Given the description of an element on the screen output the (x, y) to click on. 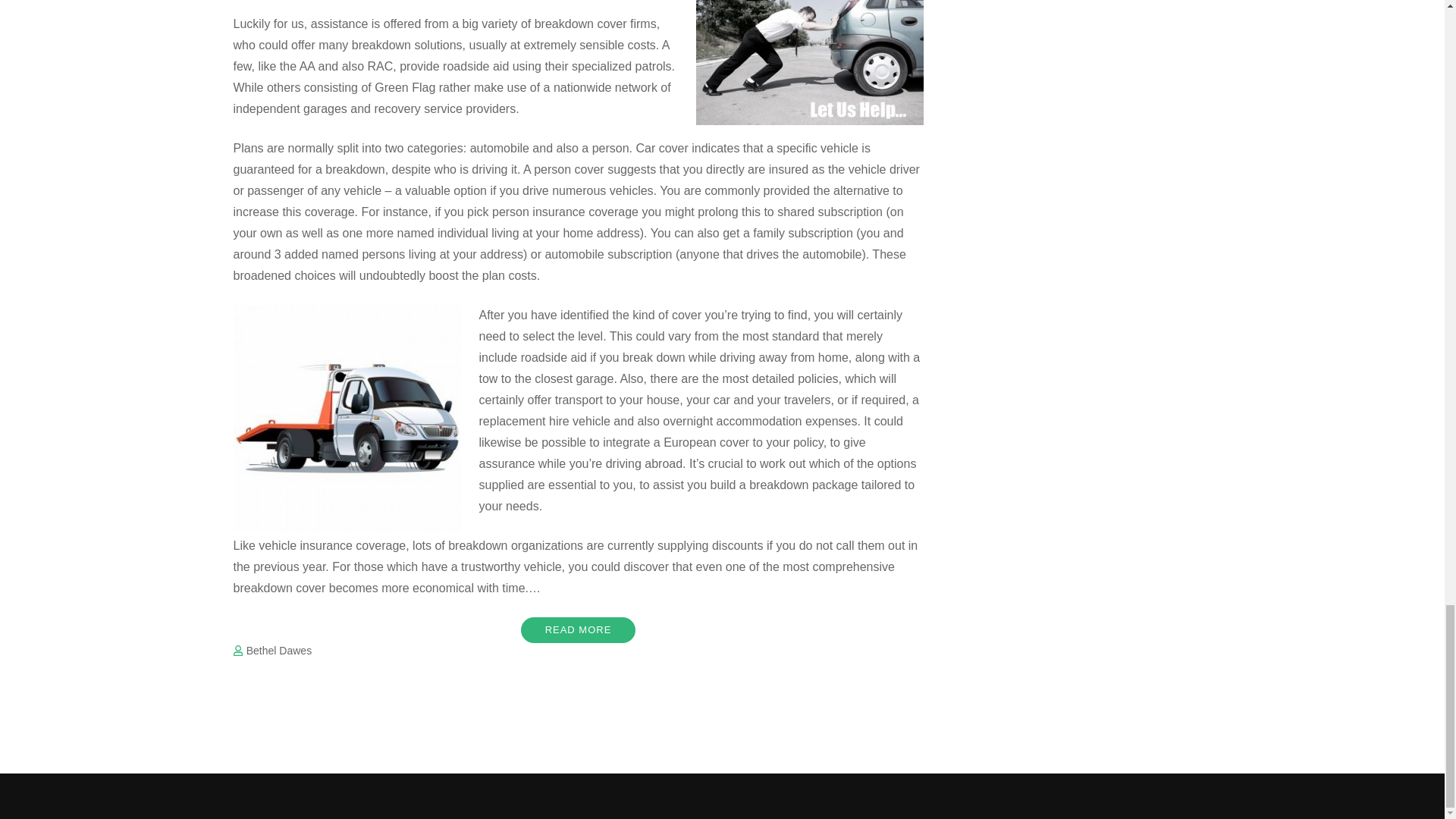
READ MORE (578, 629)
Bethel Dawes (278, 650)
